Given the description of an element on the screen output the (x, y) to click on. 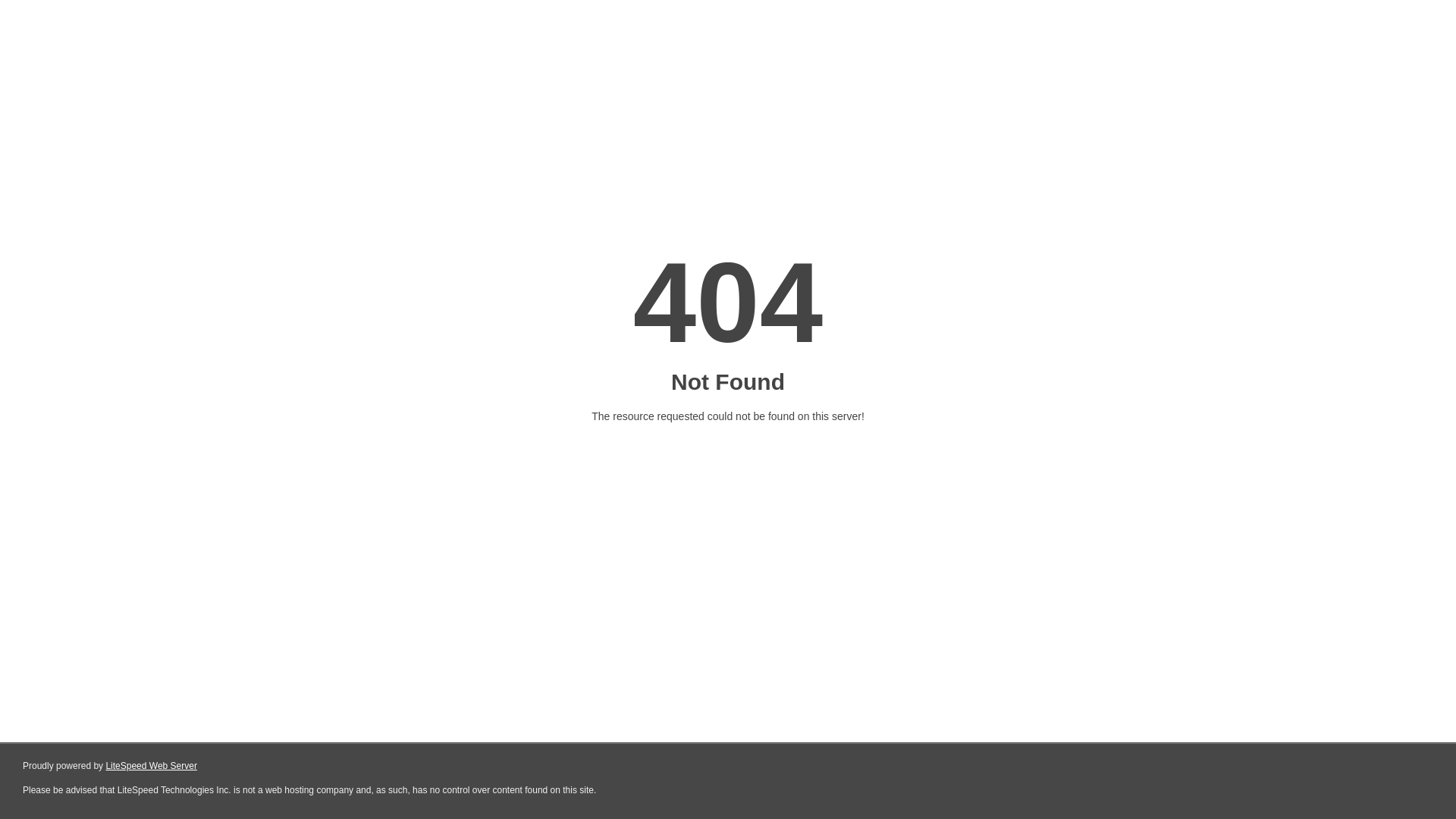
LiteSpeed Web Server Element type: text (151, 765)
